Given the description of an element on the screen output the (x, y) to click on. 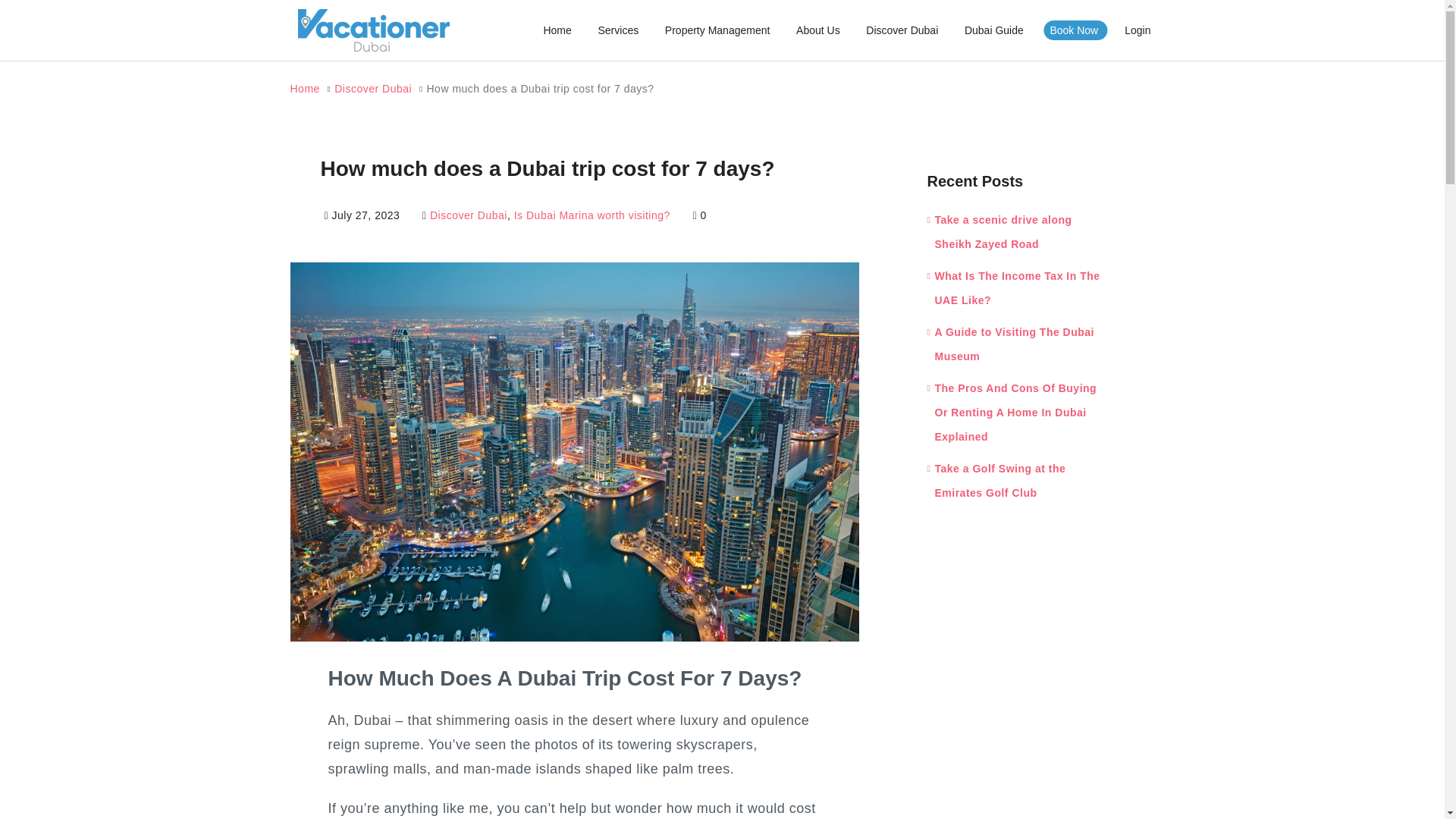
Discover Dubai (901, 30)
Home (303, 88)
Discover Dubai (467, 215)
Property Management (717, 30)
A Guide to Visiting The Dubai Museum (1010, 343)
Is Dubai Marina worth visiting? (591, 215)
Take a scenic drive along Sheikh Zayed Road (998, 231)
About Us (817, 30)
What Is The Income Tax In The UAE Like? (1012, 288)
Vacationer -  (372, 30)
Services (617, 30)
Dubai Guide (994, 30)
Book Now (1073, 30)
Discover Dubai (373, 88)
